Given the description of an element on the screen output the (x, y) to click on. 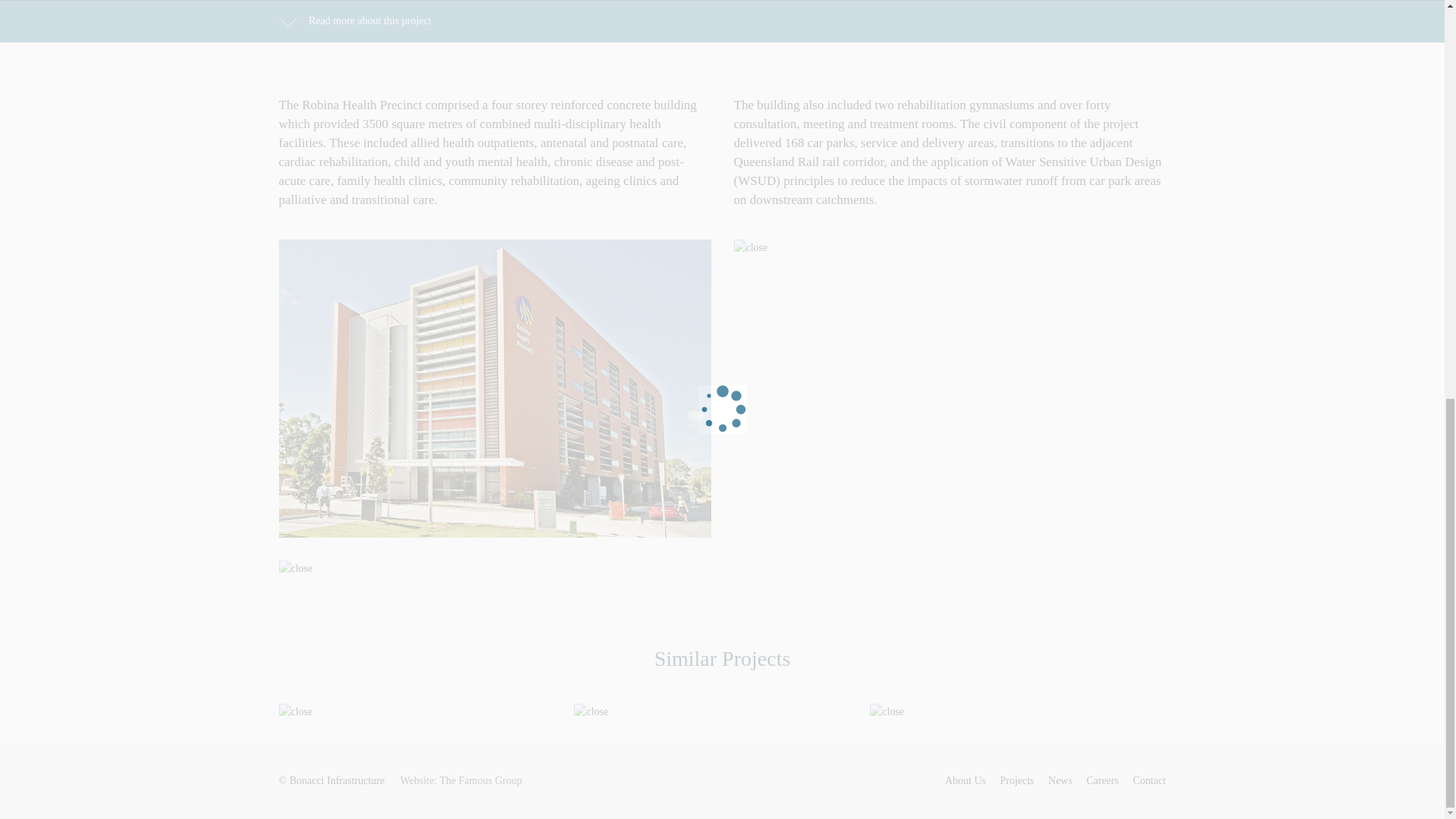
Careers (1102, 780)
Website: The Famous Group (461, 780)
News (1059, 780)
Read more about this project (354, 20)
Contact (1149, 780)
Projects (1016, 780)
About Us (964, 780)
